Given the description of an element on the screen output the (x, y) to click on. 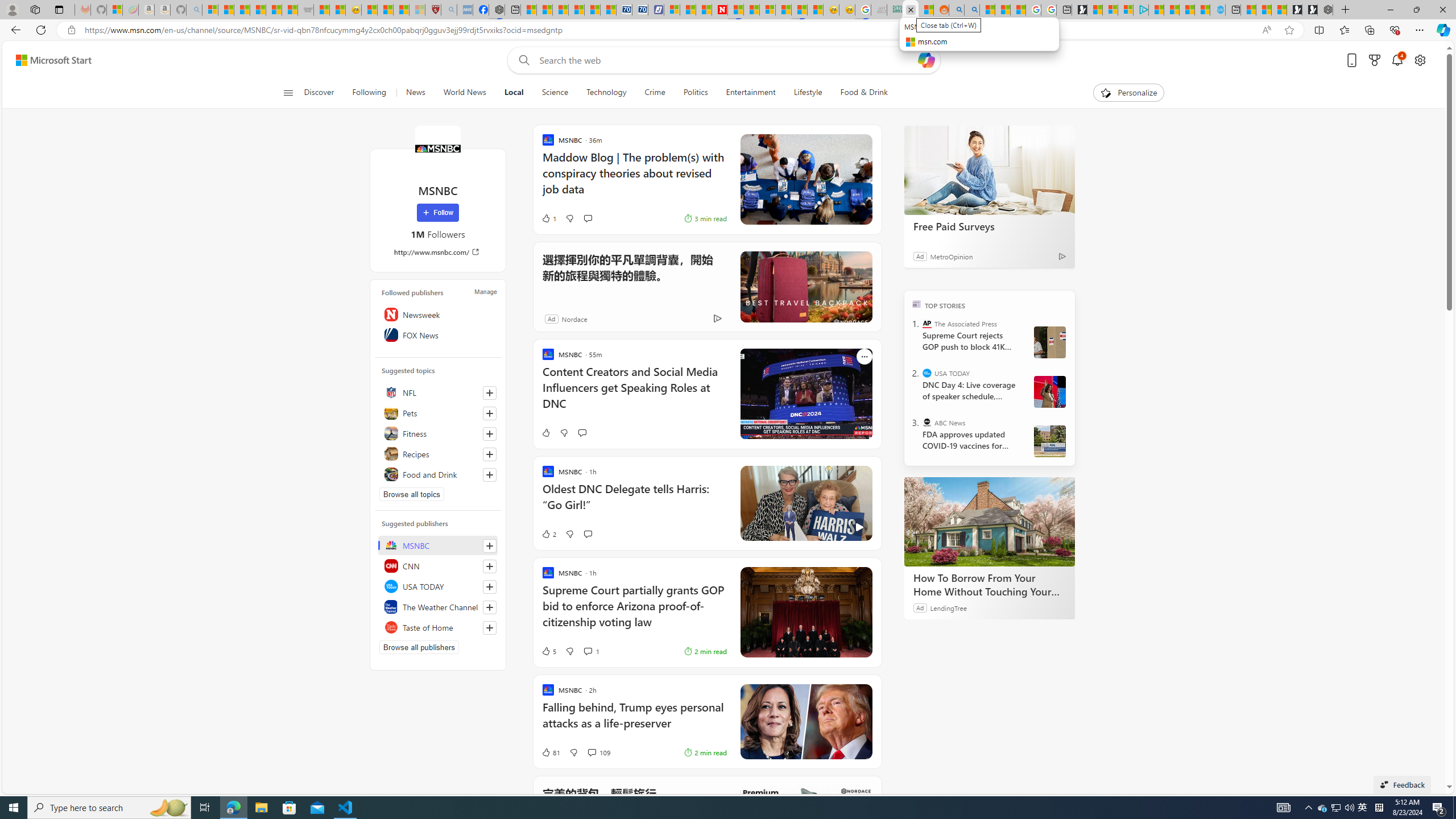
View comments 1 Comment (587, 651)
LendingTree (948, 607)
Free Paid Surveys (989, 169)
Technology (605, 92)
Technology (606, 92)
FOX News (437, 334)
Follow this topic (489, 474)
Food & Drink (864, 92)
